Given the description of an element on the screen output the (x, y) to click on. 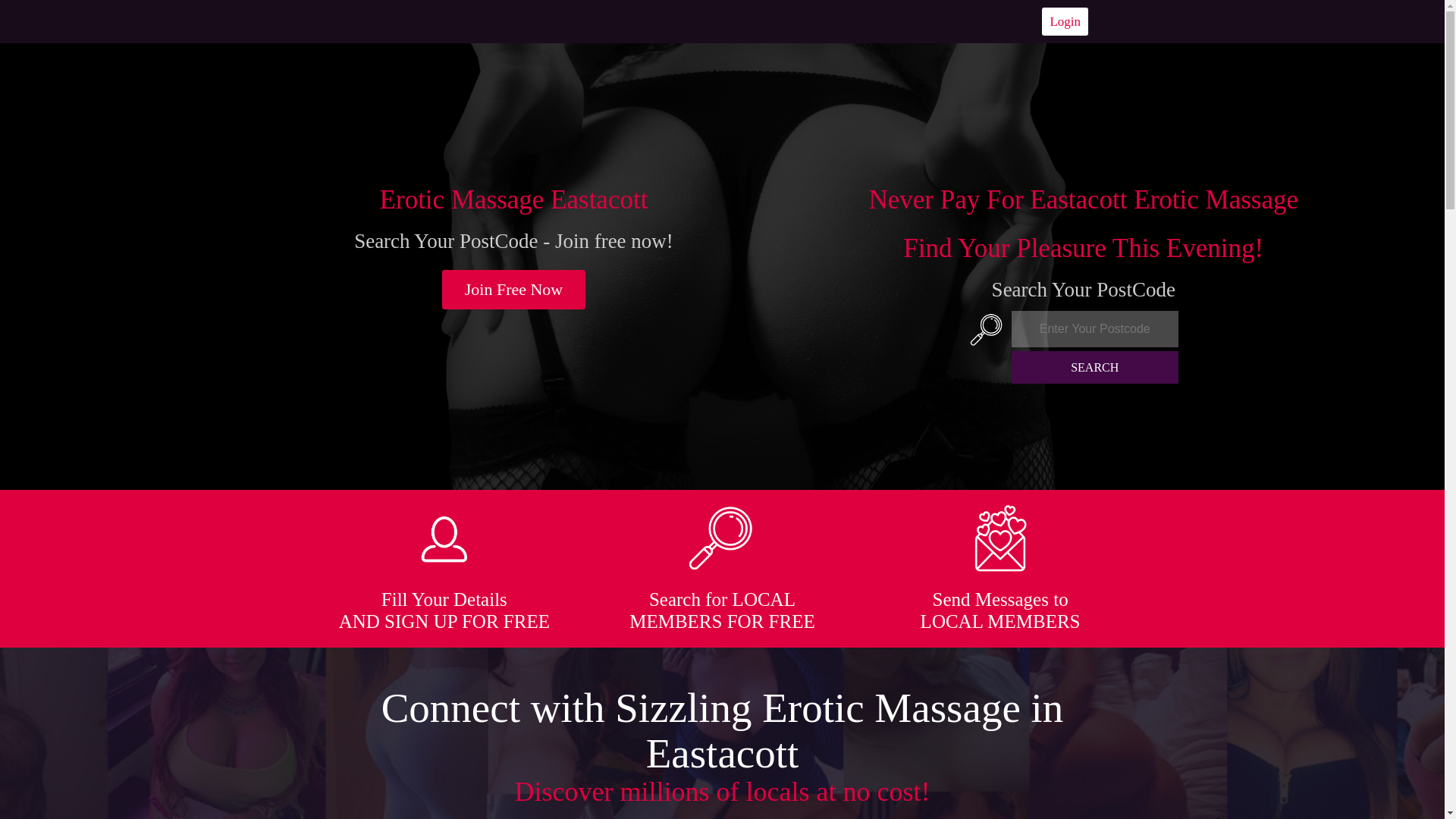
Login (1064, 21)
Join (514, 289)
Login (1064, 21)
SEARCH (1094, 367)
Join Free Now (514, 289)
